Given the description of an element on the screen output the (x, y) to click on. 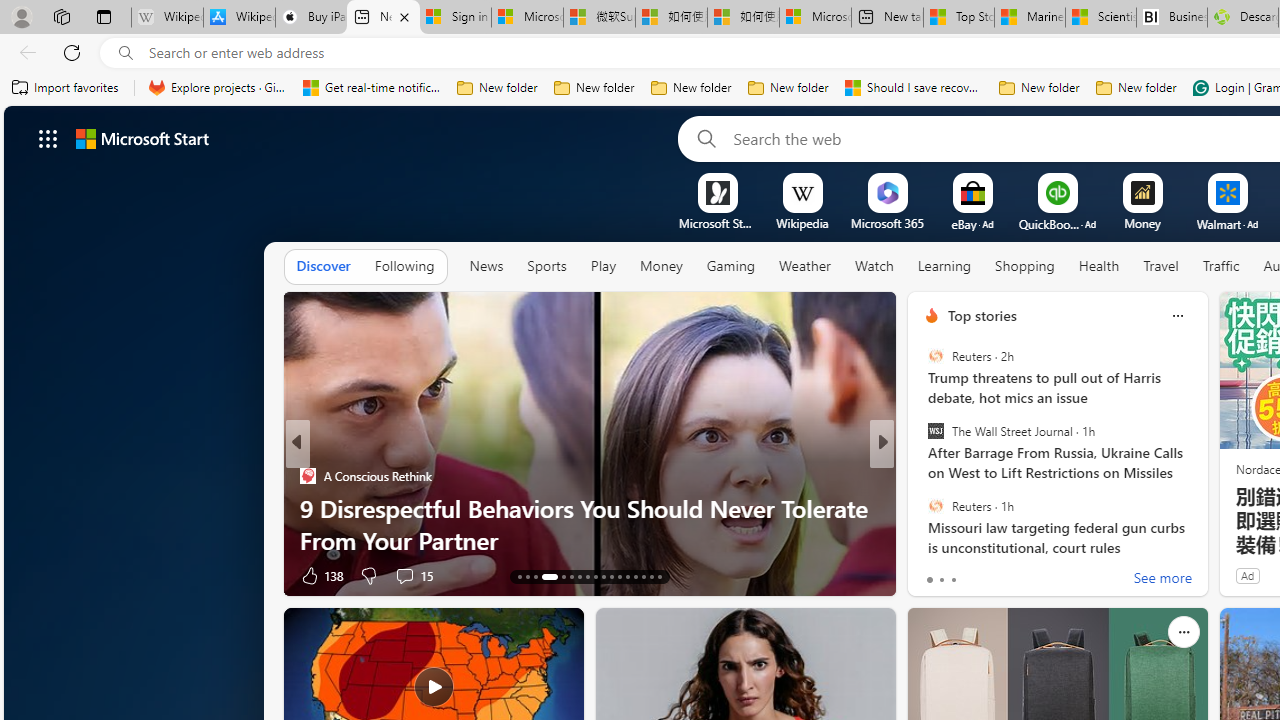
Money Digest (923, 475)
View comments 35 Comment (1022, 574)
App launcher (47, 138)
View comments 339 Comment (1019, 575)
AutomationID: tab-21 (595, 576)
View comments 339 Comment (1032, 574)
GOBankingRates (923, 475)
